Given the description of an element on the screen output the (x, y) to click on. 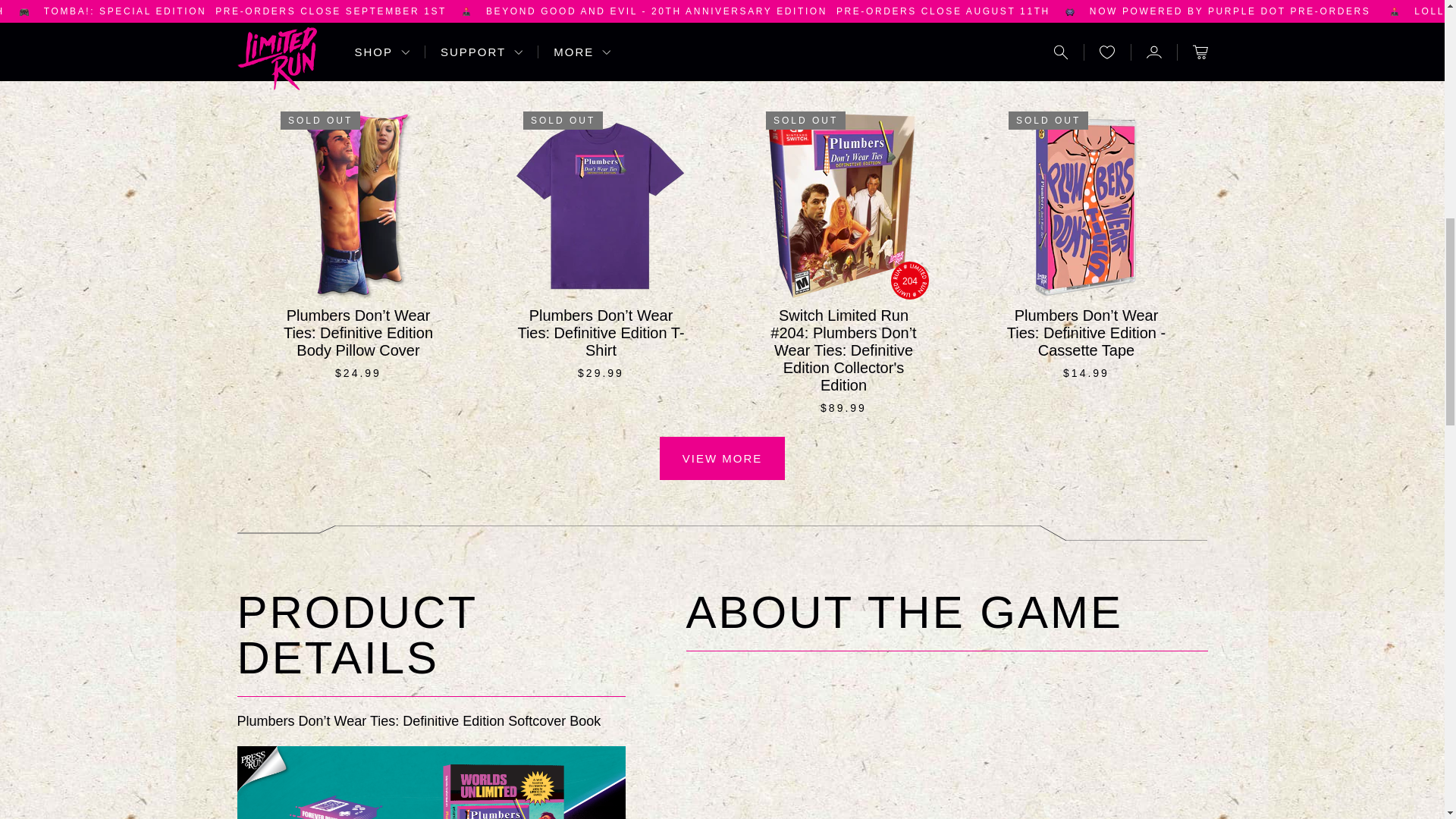
YouTube video player (946, 742)
